Given the description of an element on the screen output the (x, y) to click on. 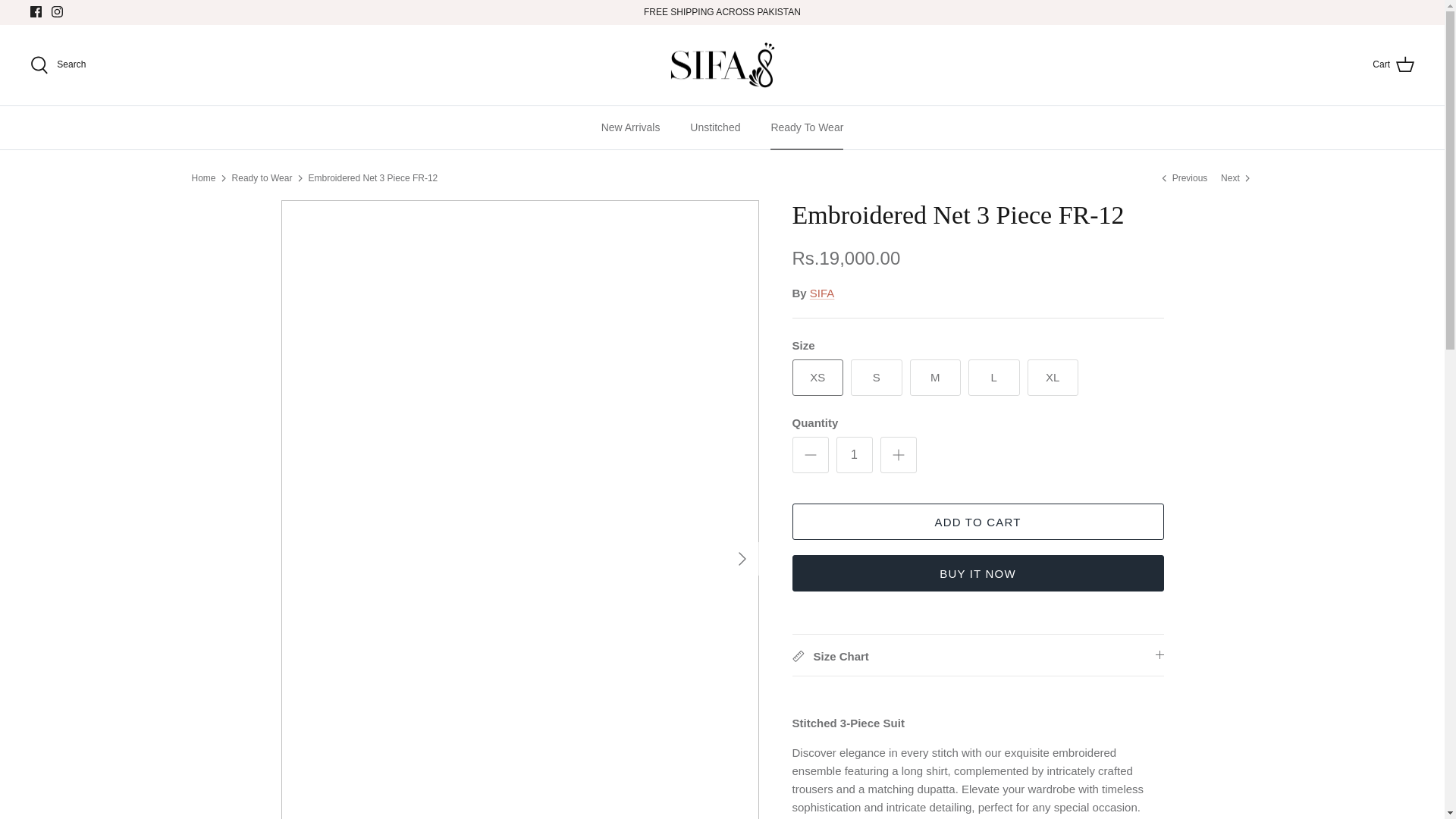
Facebook (36, 11)
Search (57, 65)
Embroidered Net 3 Piece FR-23 (1183, 177)
Cart (1393, 65)
Facebook (36, 11)
Instagram (56, 11)
Unstitched (715, 127)
Instagram (56, 11)
1 (853, 454)
SIFA PK Main  (722, 65)
Minus (809, 454)
RIGHT (741, 558)
Plus (897, 454)
Embroidered Net 3 Piece FR-11 (1236, 177)
New Arrivals (631, 127)
